Given the description of an element on the screen output the (x, y) to click on. 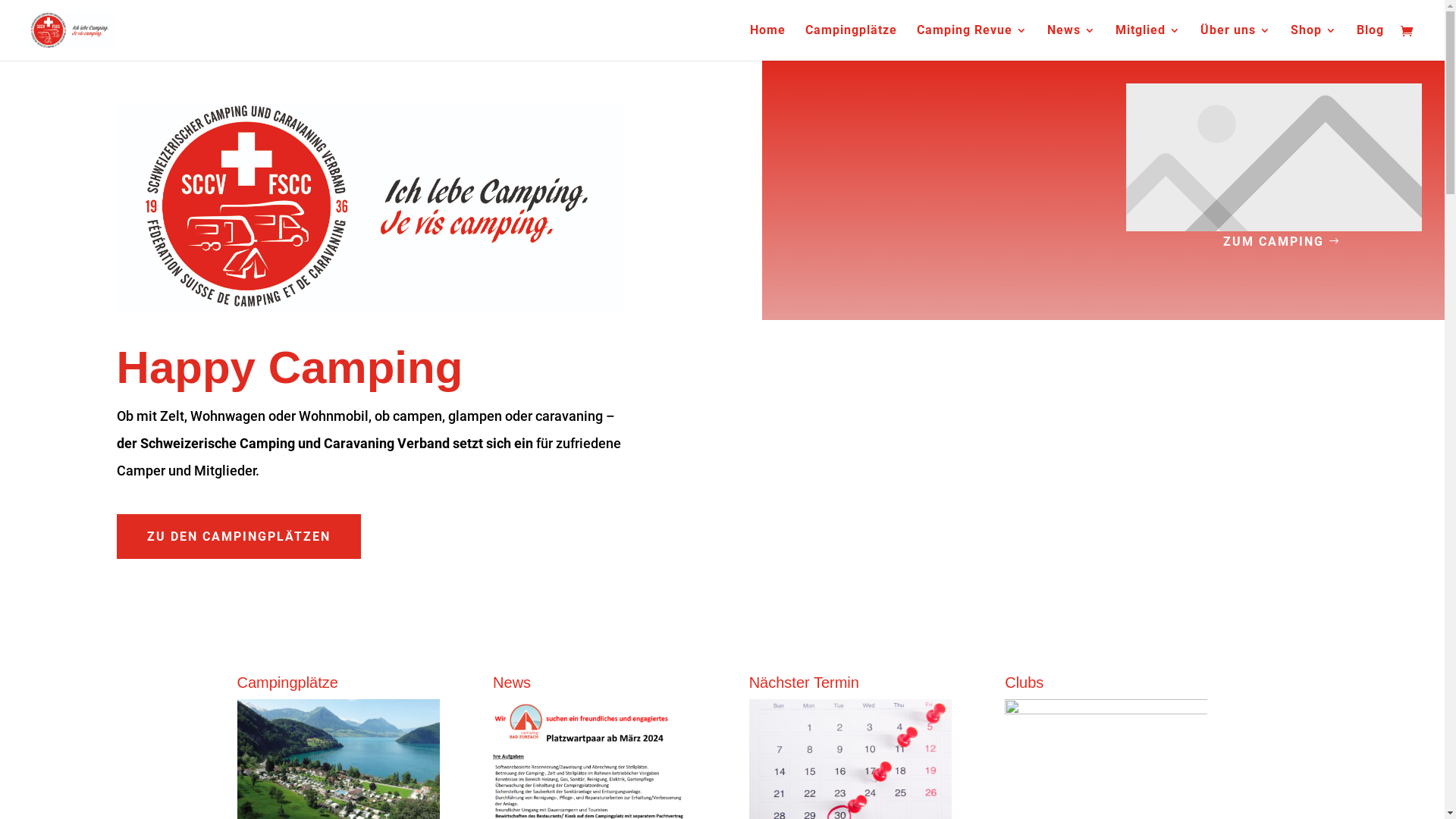
Shop Element type: text (1313, 42)
Camping Revue Element type: text (971, 42)
ZUM CAMPING Element type: text (1273, 241)
Home Element type: text (767, 42)
Logo Ich lebe Camping Element type: hover (370, 205)
Blog Element type: text (1369, 42)
News Element type: text (1071, 42)
Mitglied Element type: text (1147, 42)
